Given the description of an element on the screen output the (x, y) to click on. 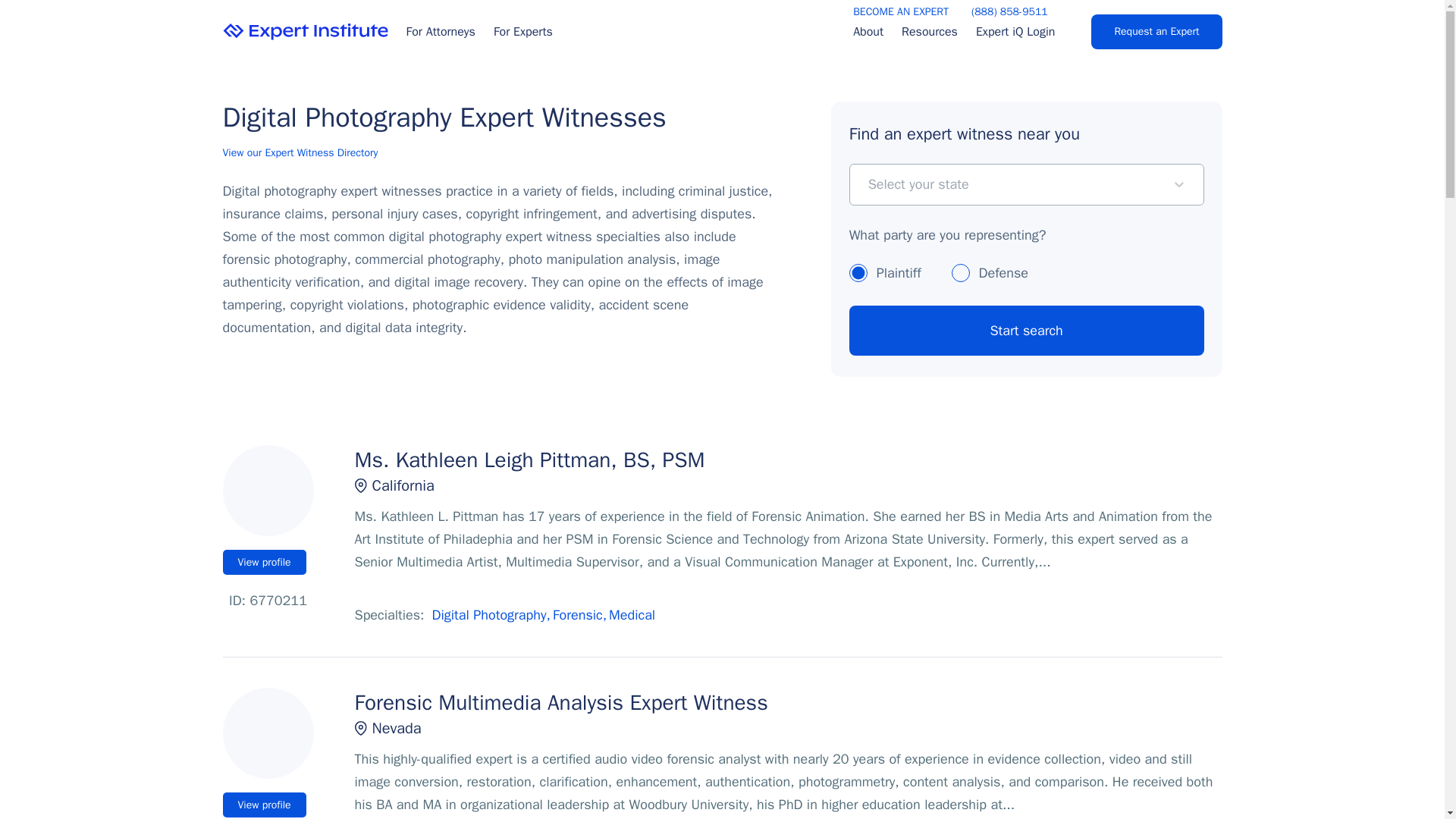
Forensic Multimedia Analysis Expert Witness (789, 701)
BECOME AN EXPERT (901, 11)
Digital Photography, (491, 614)
View profile (263, 803)
Medical (631, 614)
Request an Expert (1155, 31)
Forensic, (580, 614)
Ms. Kathleen Leigh Pittman, BS, PSM (789, 459)
View our Expert Witness Directory (300, 142)
Start search (1026, 329)
View profile (263, 561)
